Given the description of an element on the screen output the (x, y) to click on. 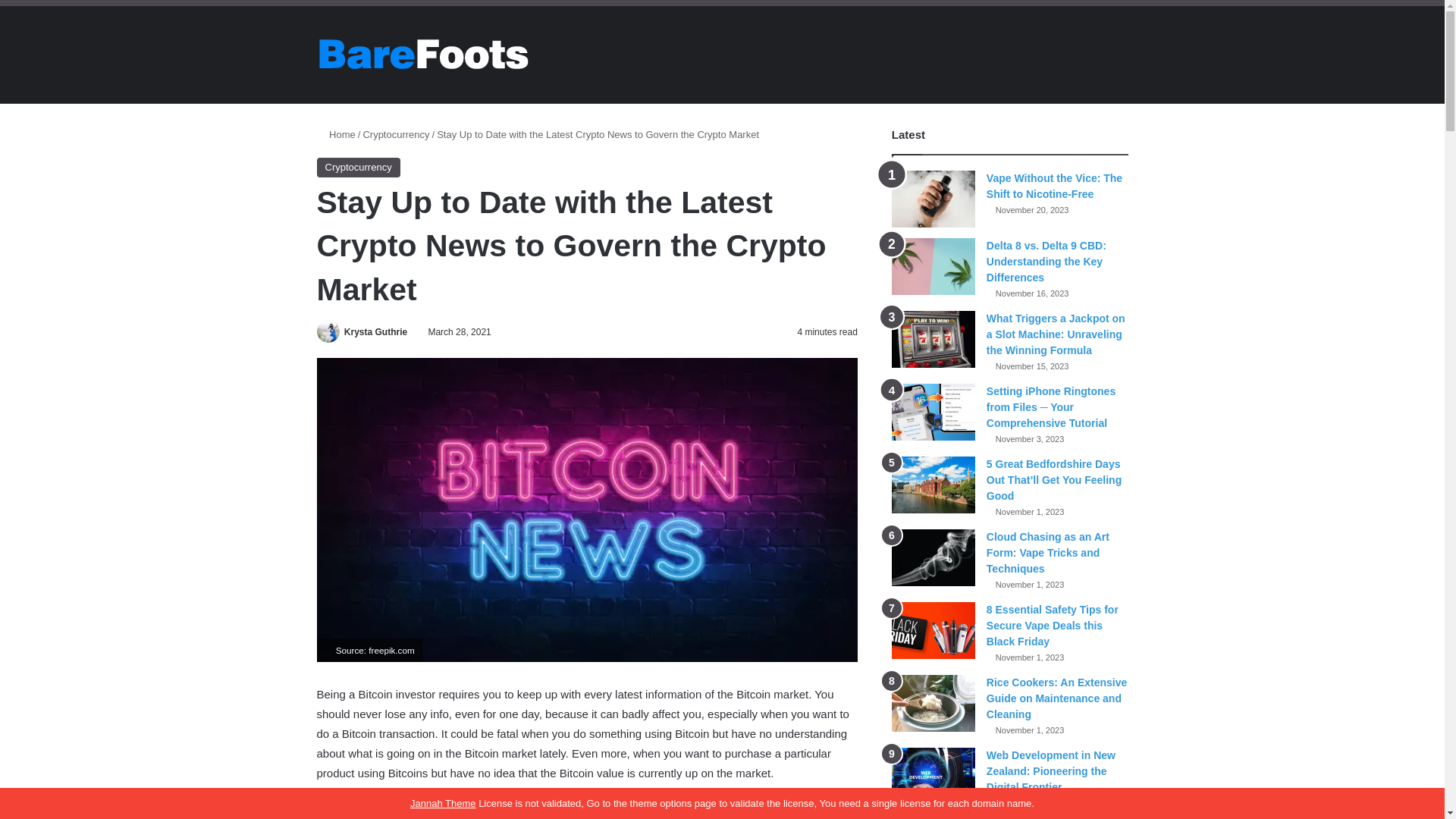
Krysta Guthrie Element type: text (375, 331)
Cryptocurrency Element type: text (395, 134)
Cryptocurrency Element type: text (358, 167)
Vape Without the Vice: The Shift to Nicotine-Free Element type: text (1054, 186)
Home Element type: text (335, 134)
Bare Foots World Element type: hover (422, 54)
Jannah Theme Element type: text (443, 803)
Rice Cookers: An Extensive Guide on Maintenance and Cleaning Element type: text (1056, 698)
Delta 8 vs. Delta 9 CBD: Understanding the Key Differences Element type: text (1046, 261)
Search for Element type: text (1116, 54)
Cloud Chasing as an Art Form: Vape Tricks and Techniques Element type: text (1047, 552)
